Given the description of an element on the screen output the (x, y) to click on. 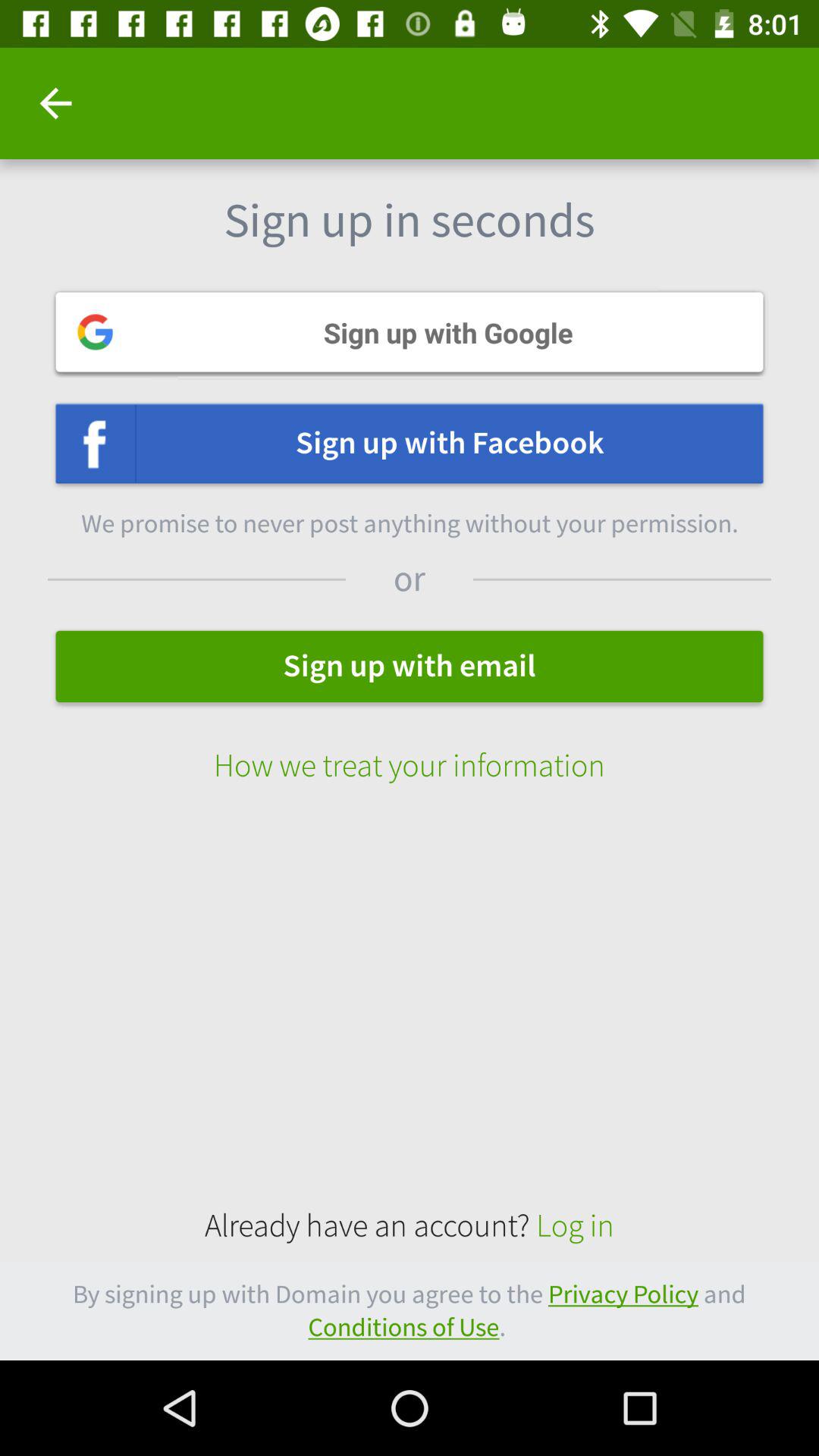
turn off item above the sign up in item (55, 103)
